Given the description of an element on the screen output the (x, y) to click on. 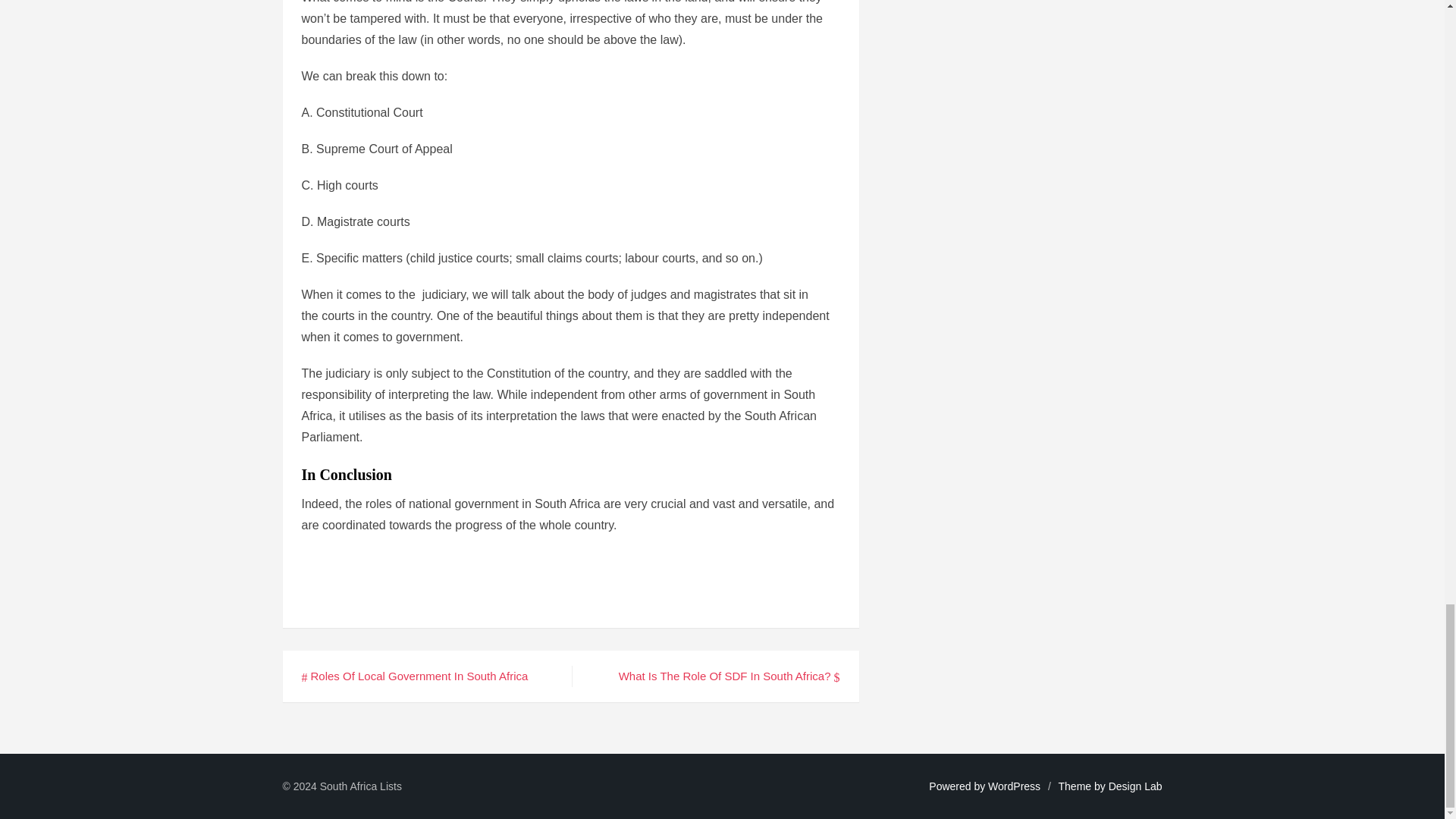
Roles Of Local Government In South Africa (414, 675)
What Is The Role Of SDF In South Africa? (729, 675)
Theme by Design Lab (1109, 786)
Powered by WordPress (984, 786)
